Given the description of an element on the screen output the (x, y) to click on. 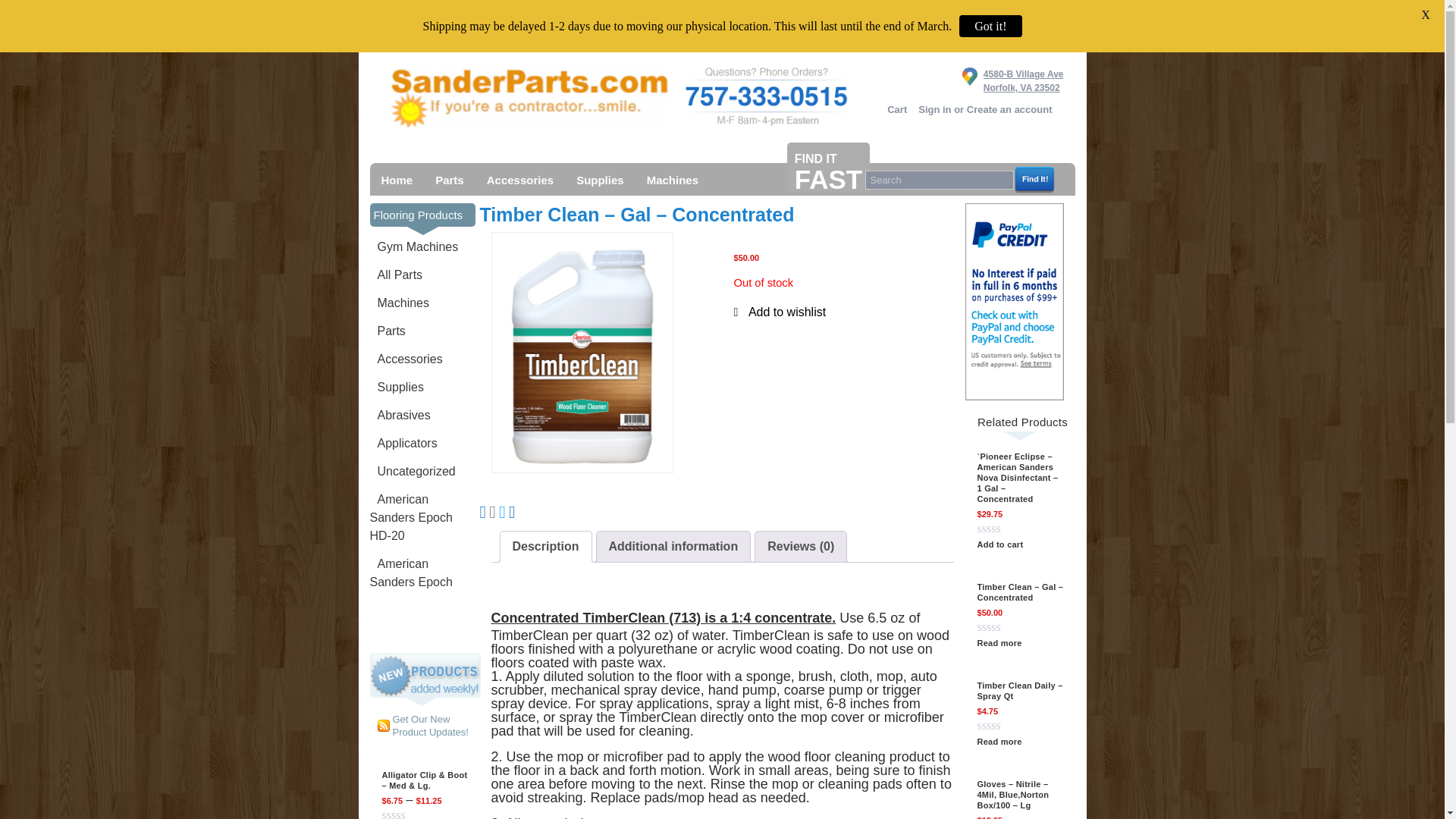
All Parts (396, 275)
Accessories (405, 359)
Accessories (1012, 81)
Applicators (520, 178)
Sign in or Create an account (403, 443)
Gym Machines (984, 109)
Sander Parts (413, 247)
Abrasives (528, 97)
Cart (399, 415)
Home (896, 109)
Parts (397, 178)
Machines (449, 178)
Supplies (399, 303)
Supplies (396, 387)
